Given the description of an element on the screen output the (x, y) to click on. 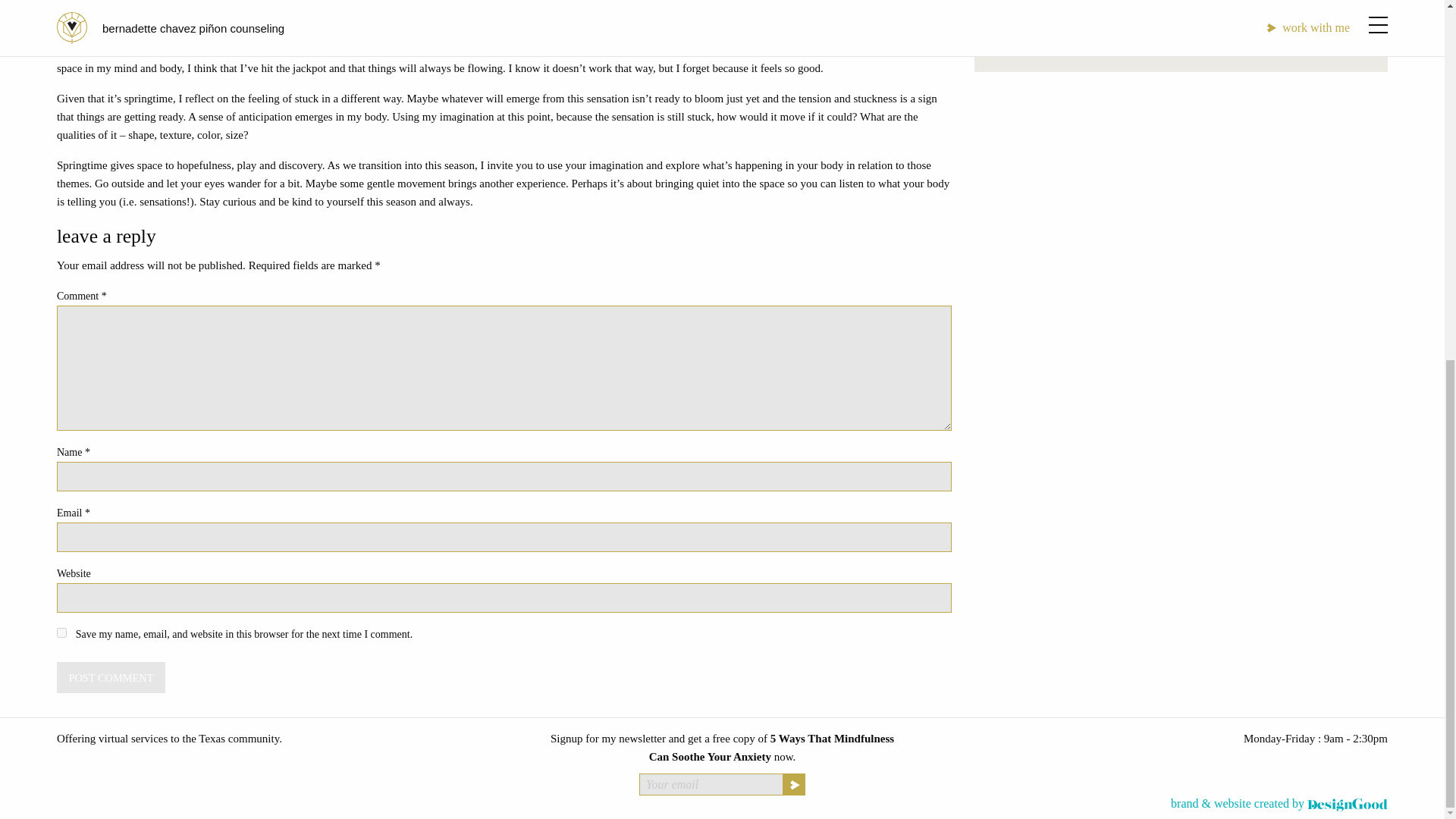
Trauma (1046, 25)
Therapy (1047, 2)
Post Comment (110, 676)
Post Comment (110, 676)
yes (61, 633)
